Given the description of an element on the screen output the (x, y) to click on. 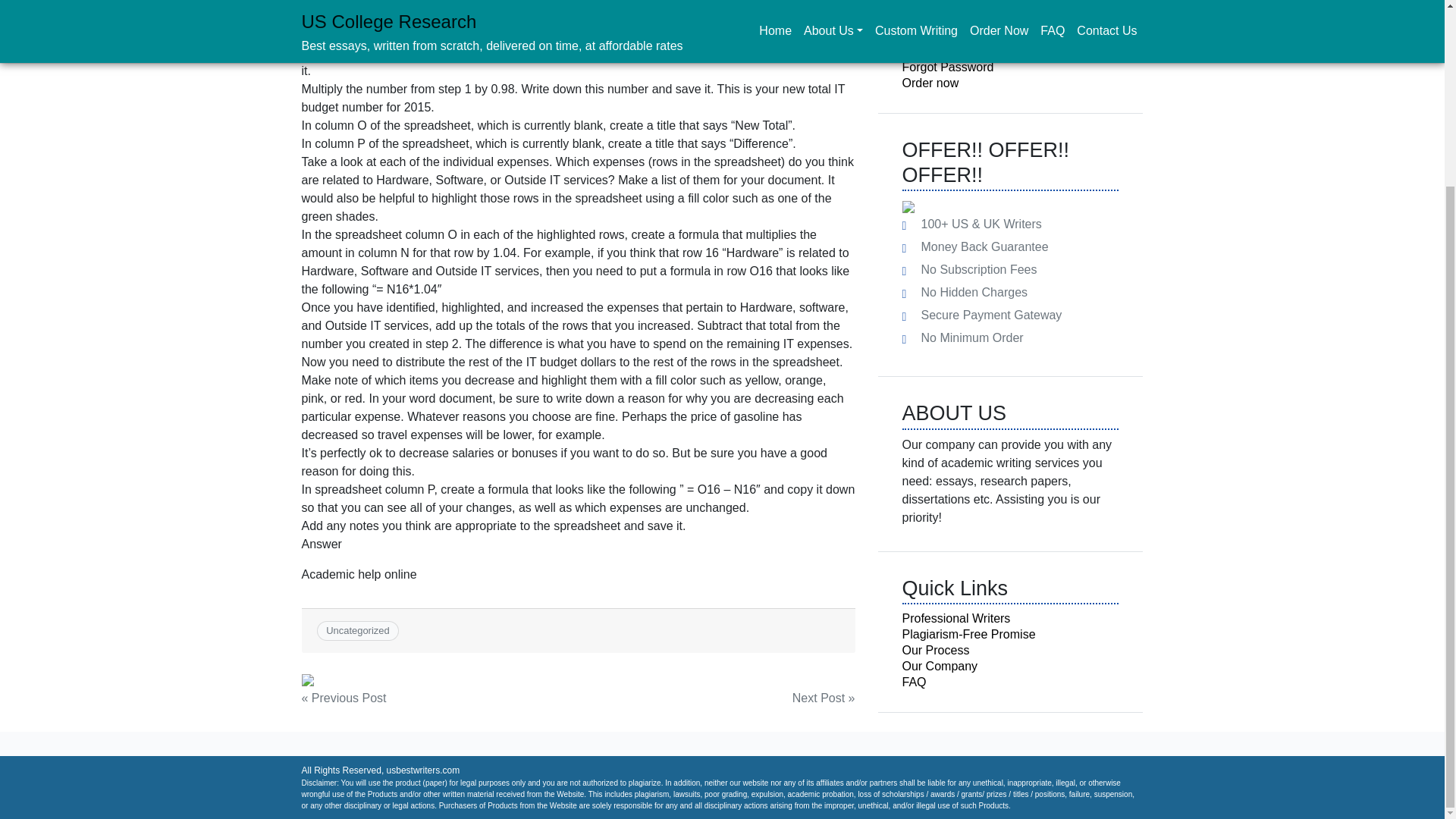
Order now (930, 82)
Login (934, 17)
Our Company (940, 666)
Login (934, 17)
Forgot Password (948, 66)
Plagiarism-Free Promise (968, 634)
Professional Writers (956, 617)
Our Process (935, 649)
Uncategorized (358, 630)
FAQ (914, 681)
